Given the description of an element on the screen output the (x, y) to click on. 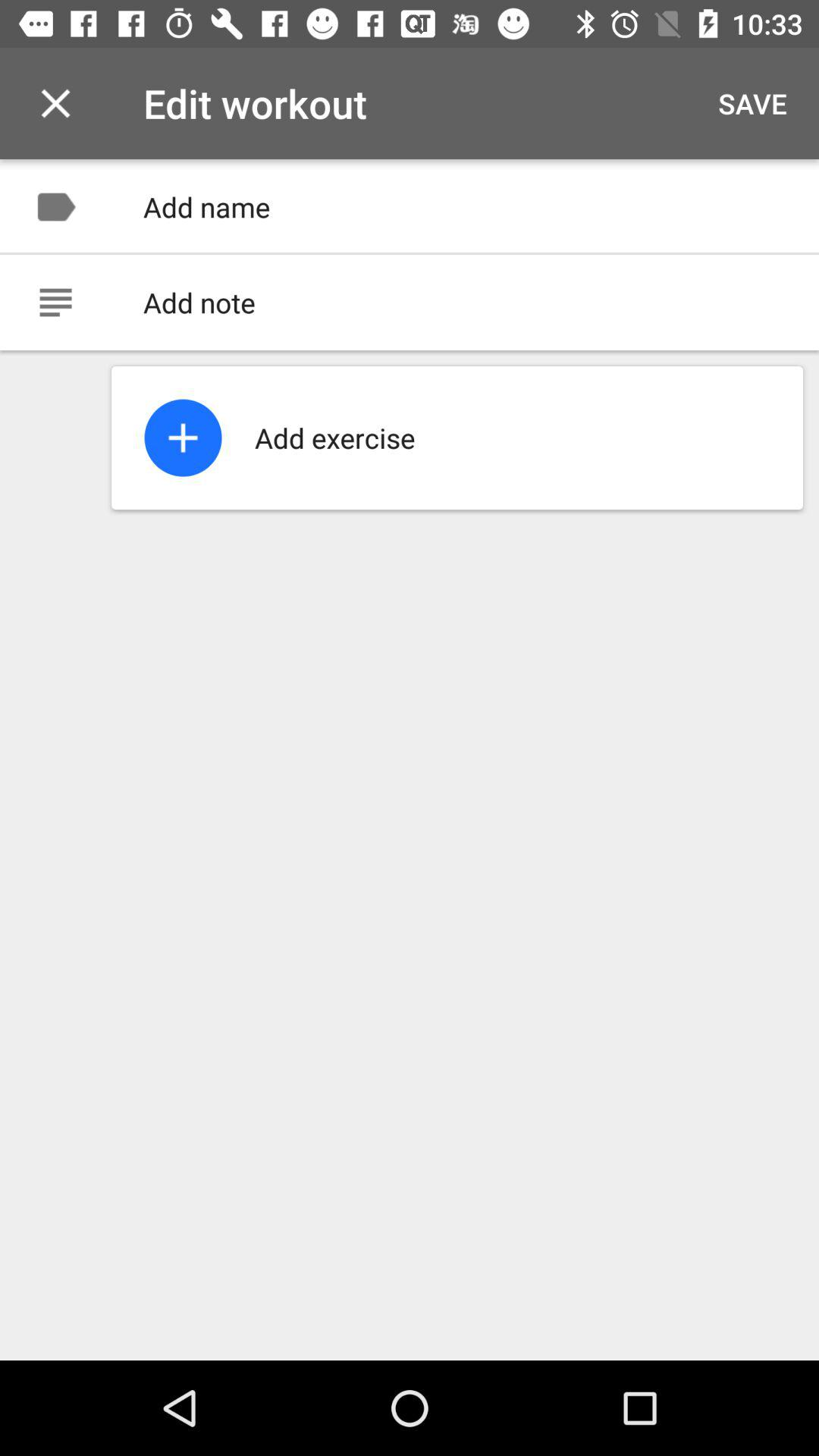
click the item next to edit workout item (55, 103)
